Given the description of an element on the screen output the (x, y) to click on. 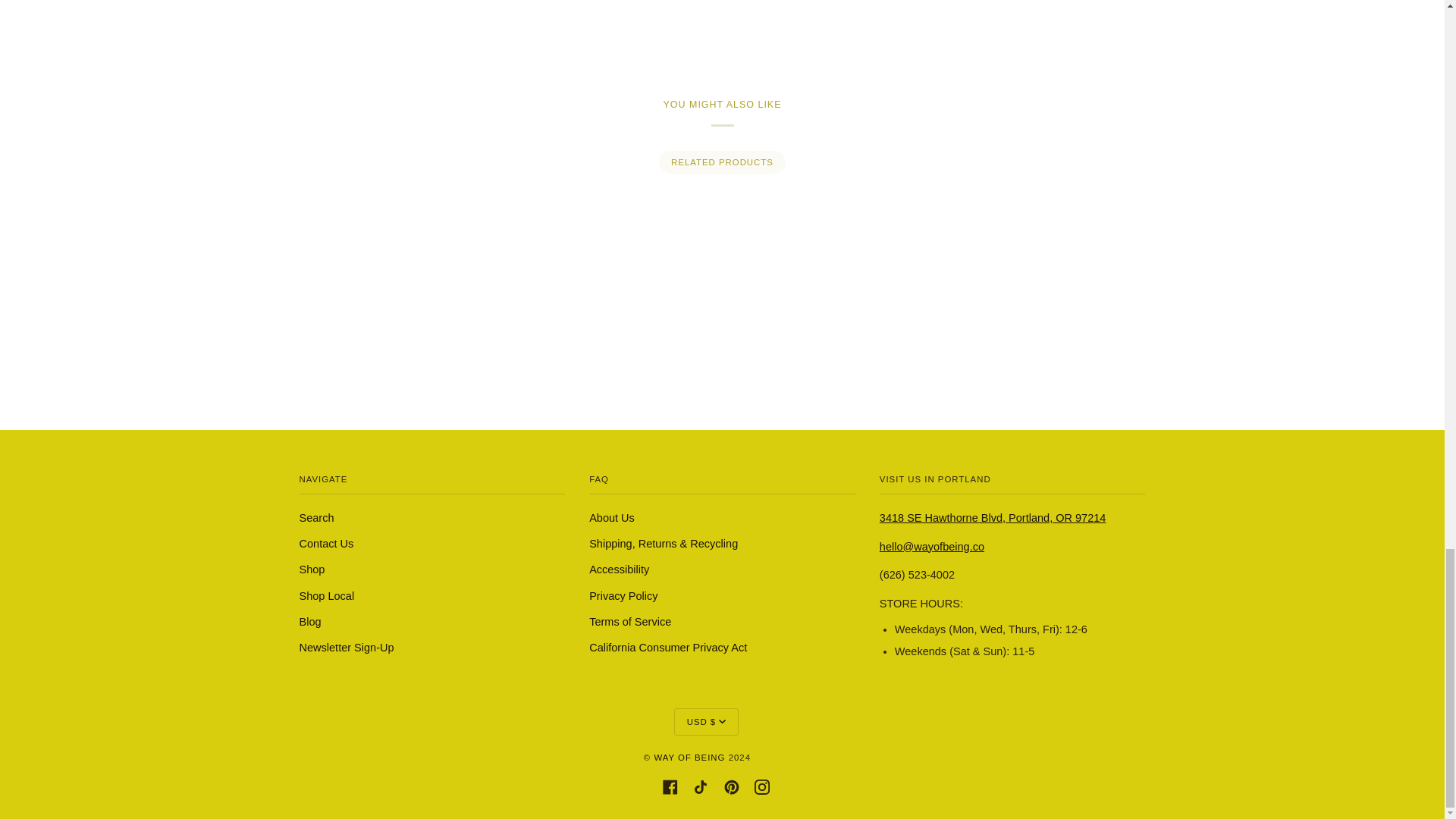
Instagram (762, 786)
Pinterest (731, 786)
Tiktok (700, 786)
Facebook (670, 786)
RELATED PRODUCTS (721, 161)
